Given the description of an element on the screen output the (x, y) to click on. 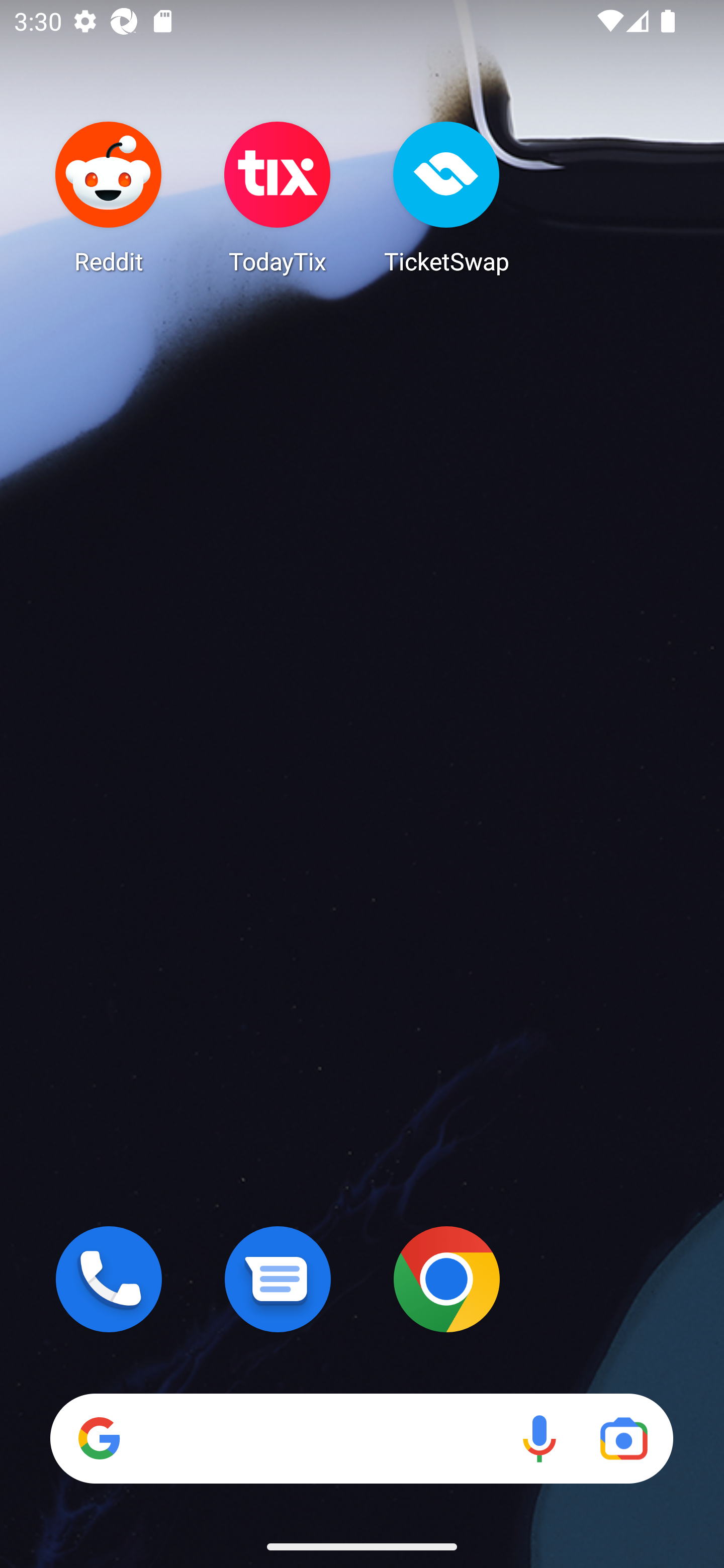
Reddit (108, 196)
TodayTix (277, 196)
TicketSwap (445, 196)
Phone (108, 1279)
Messages (277, 1279)
Chrome (446, 1279)
Voice search (539, 1438)
Google Lens (623, 1438)
